Given the description of an element on the screen output the (x, y) to click on. 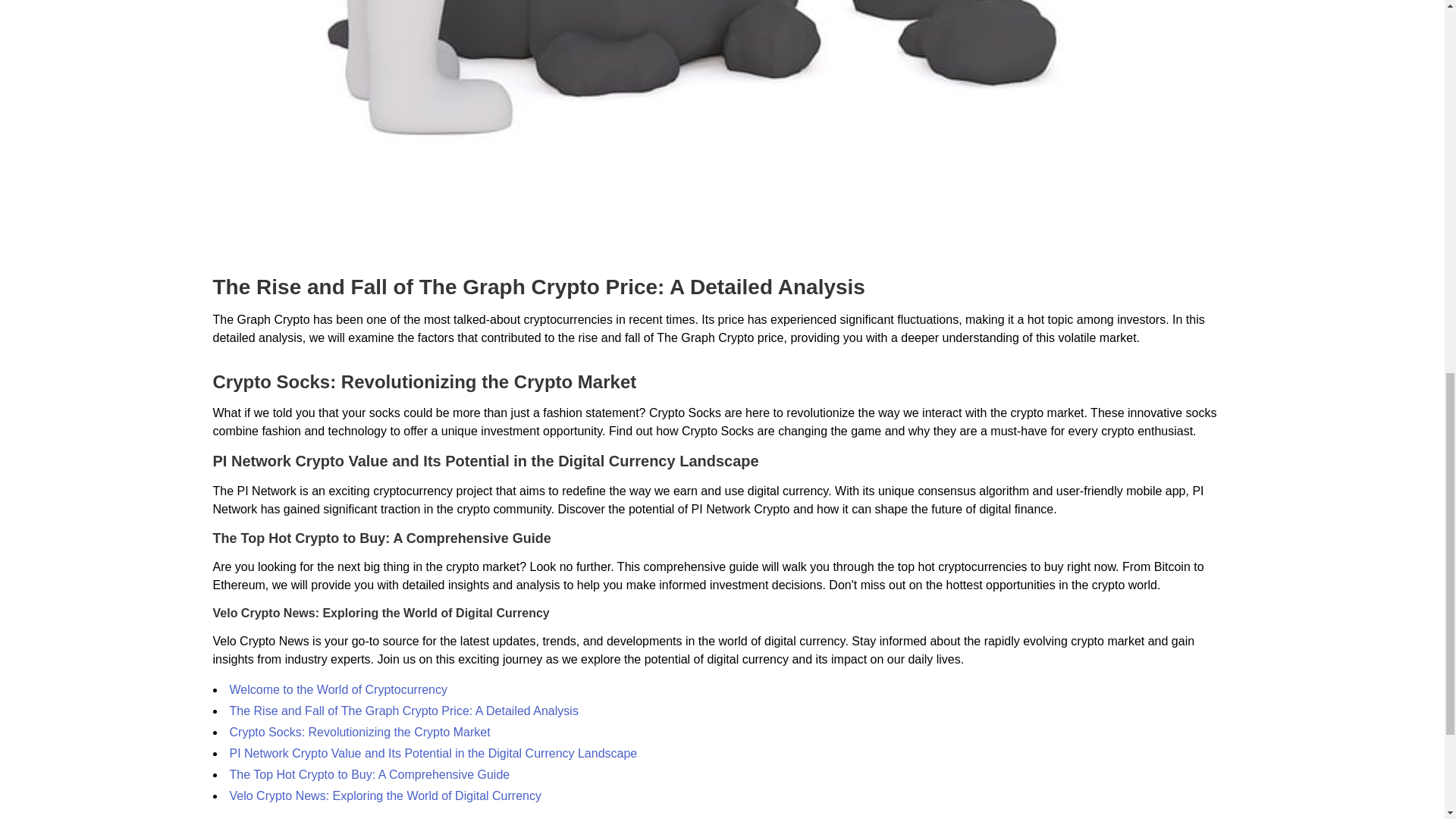
Crypto Socks: Revolutionizing the Crypto Market (358, 731)
Velo Crypto News: Exploring the World of Digital Currency (384, 795)
The Top Hot Crypto to Buy: A Comprehensive Guide (368, 774)
Welcome to the World of Cryptocurrency (337, 689)
